Given the description of an element on the screen output the (x, y) to click on. 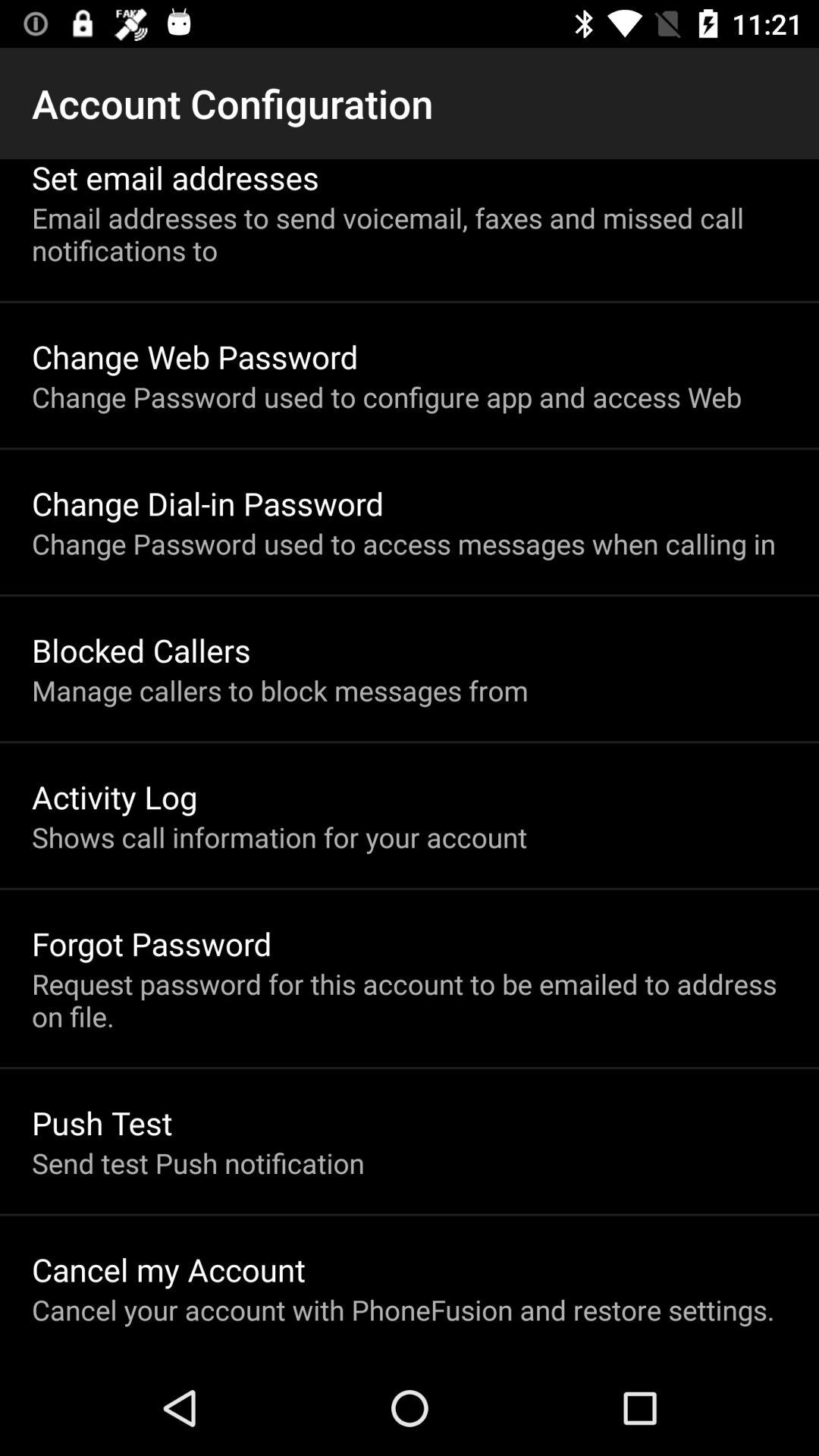
click the item below the manage callers to (114, 796)
